Given the description of an element on the screen output the (x, y) to click on. 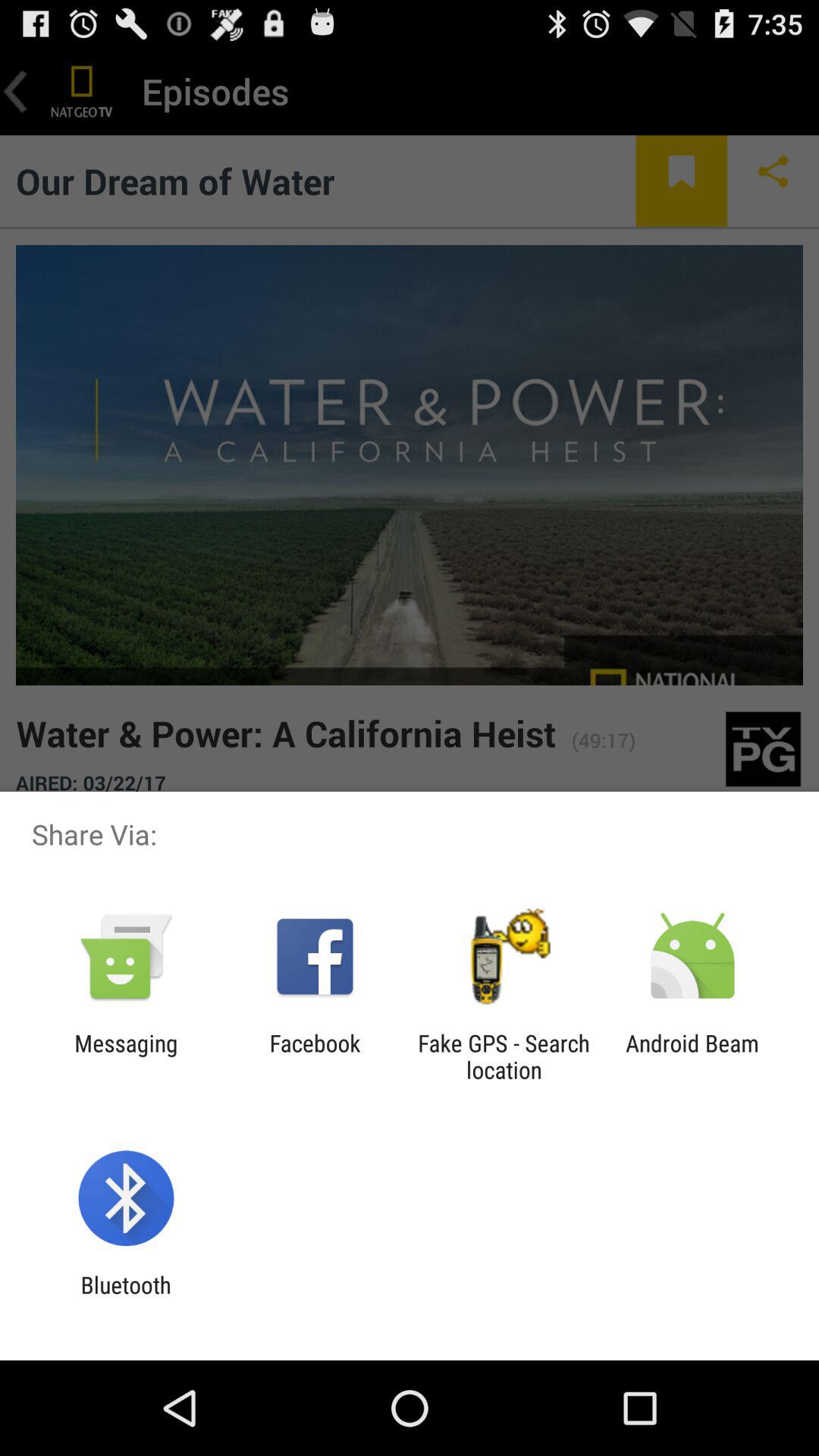
swipe until the facebook (314, 1056)
